Given the description of an element on the screen output the (x, y) to click on. 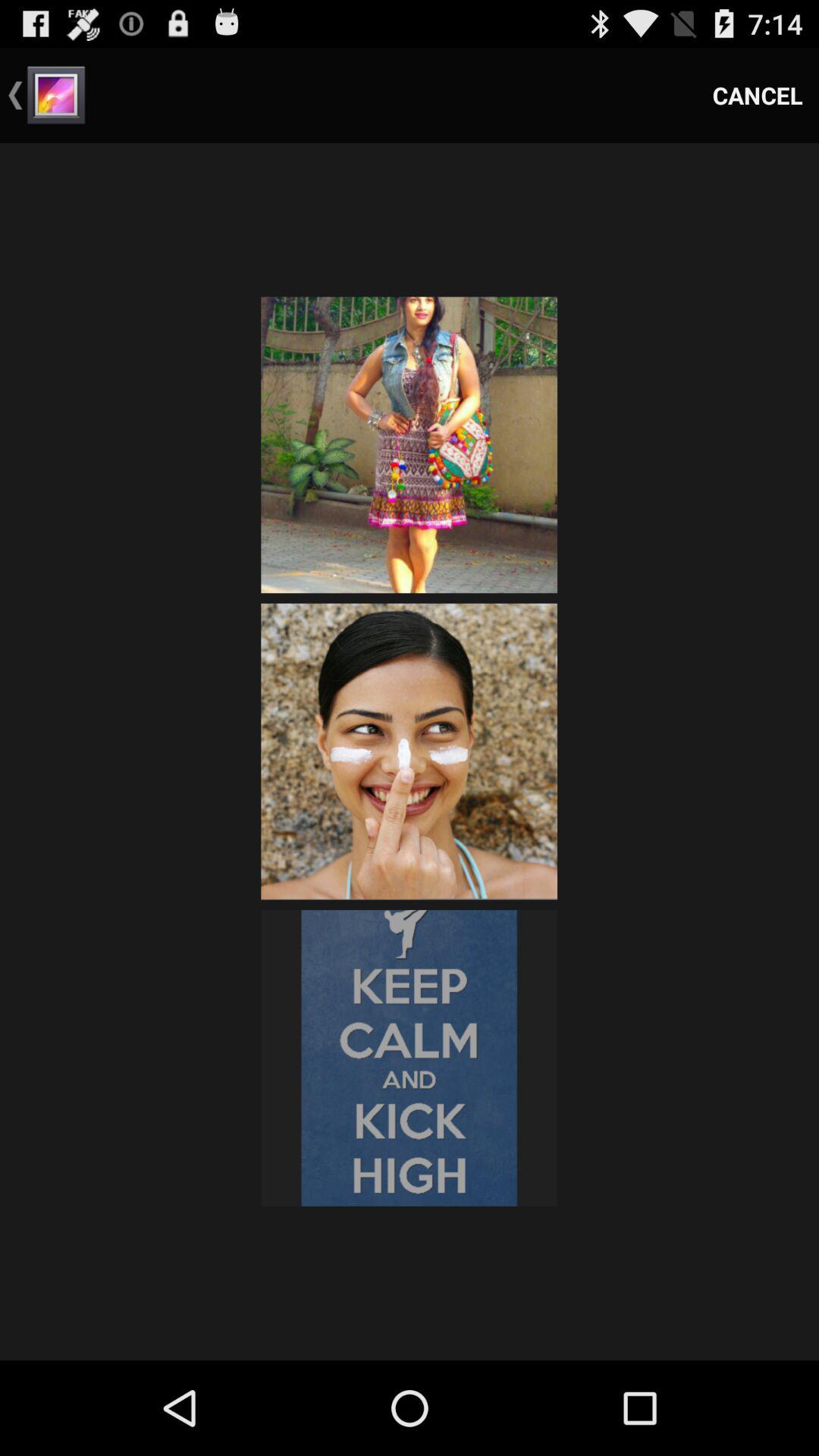
tap the cancel item (757, 95)
